Given the description of an element on the screen output the (x, y) to click on. 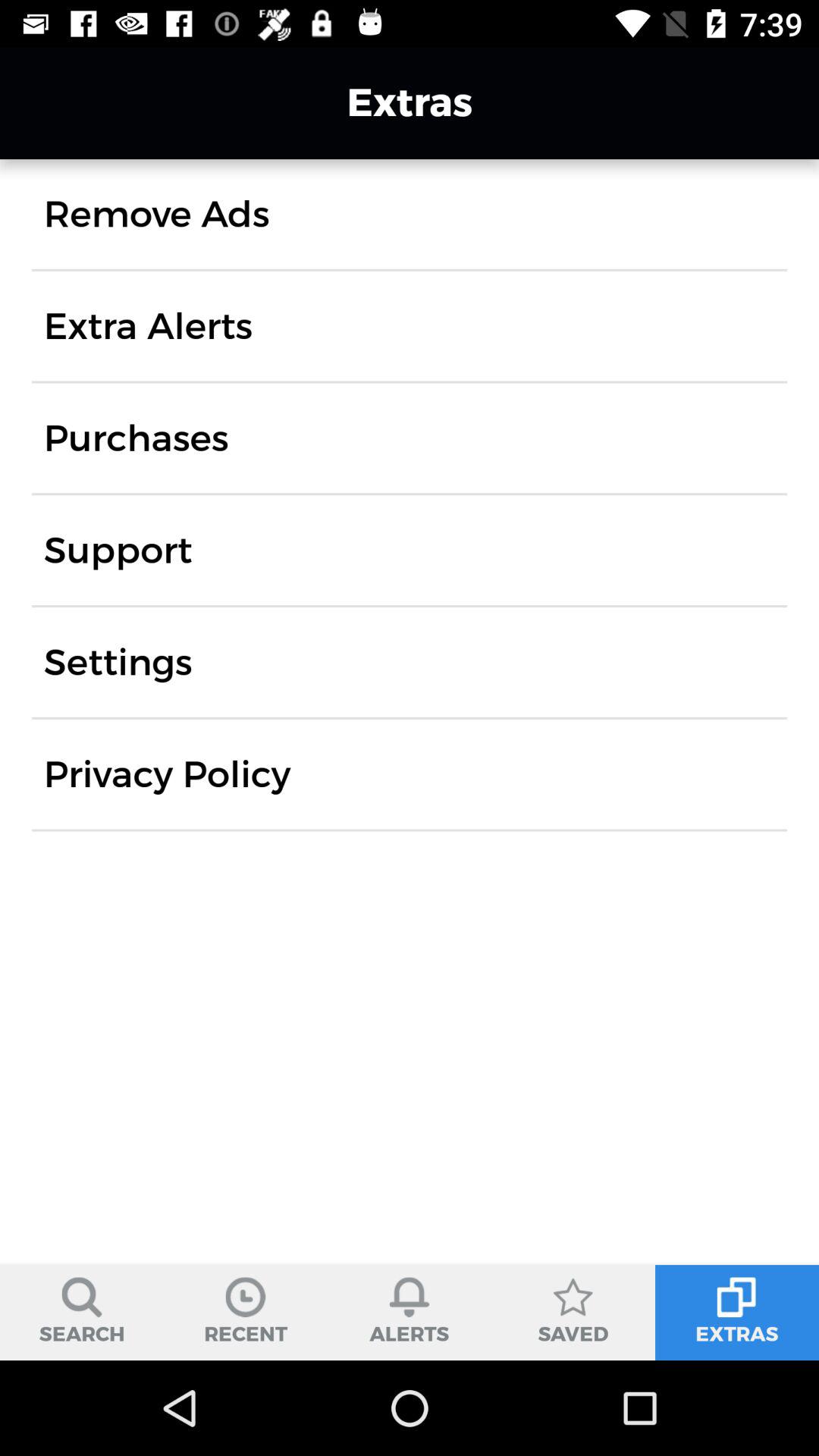
jump to privacy policy (166, 774)
